Given the description of an element on the screen output the (x, y) to click on. 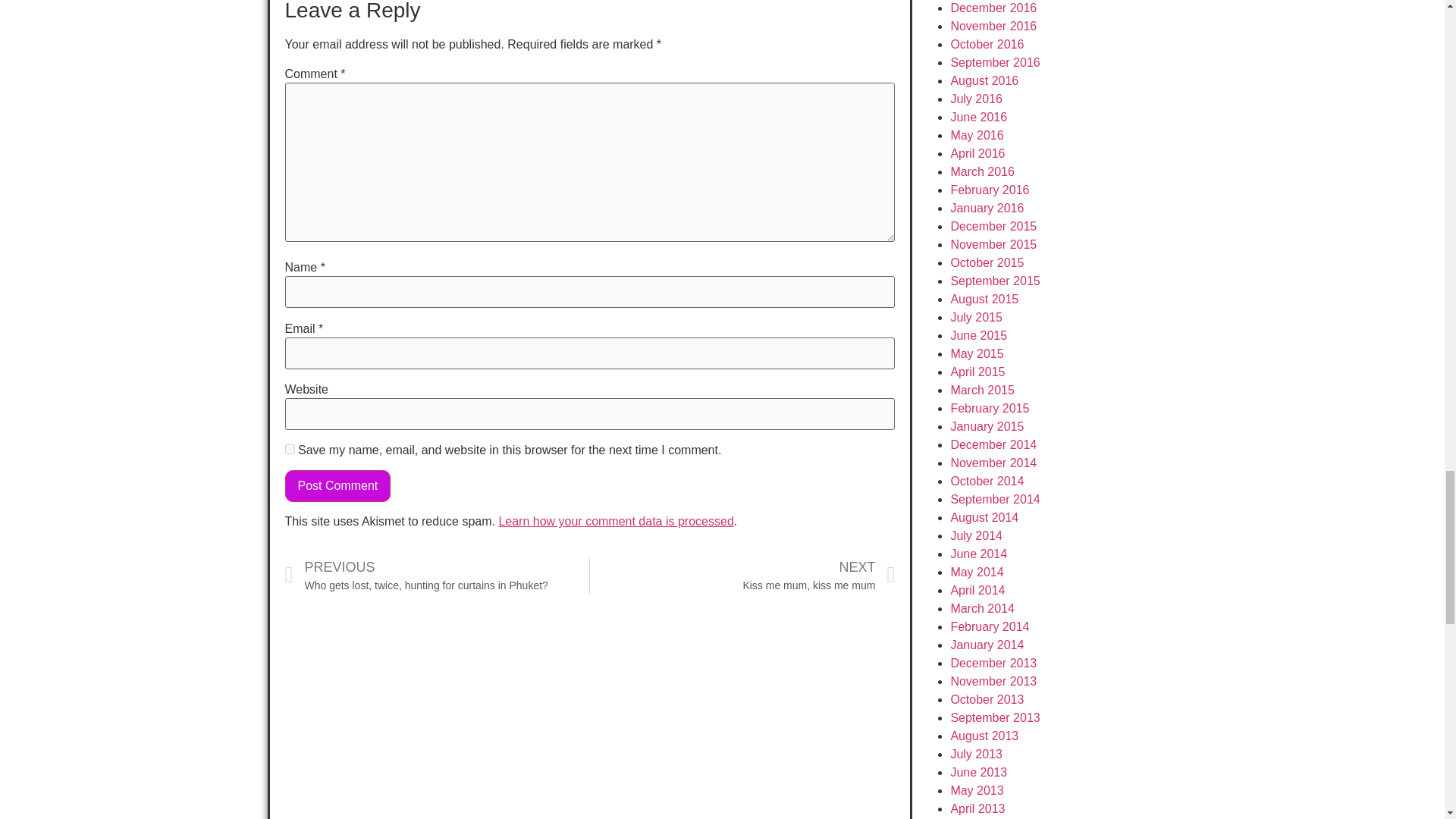
yes (290, 449)
Post Comment (338, 486)
